Given the description of an element on the screen output the (x, y) to click on. 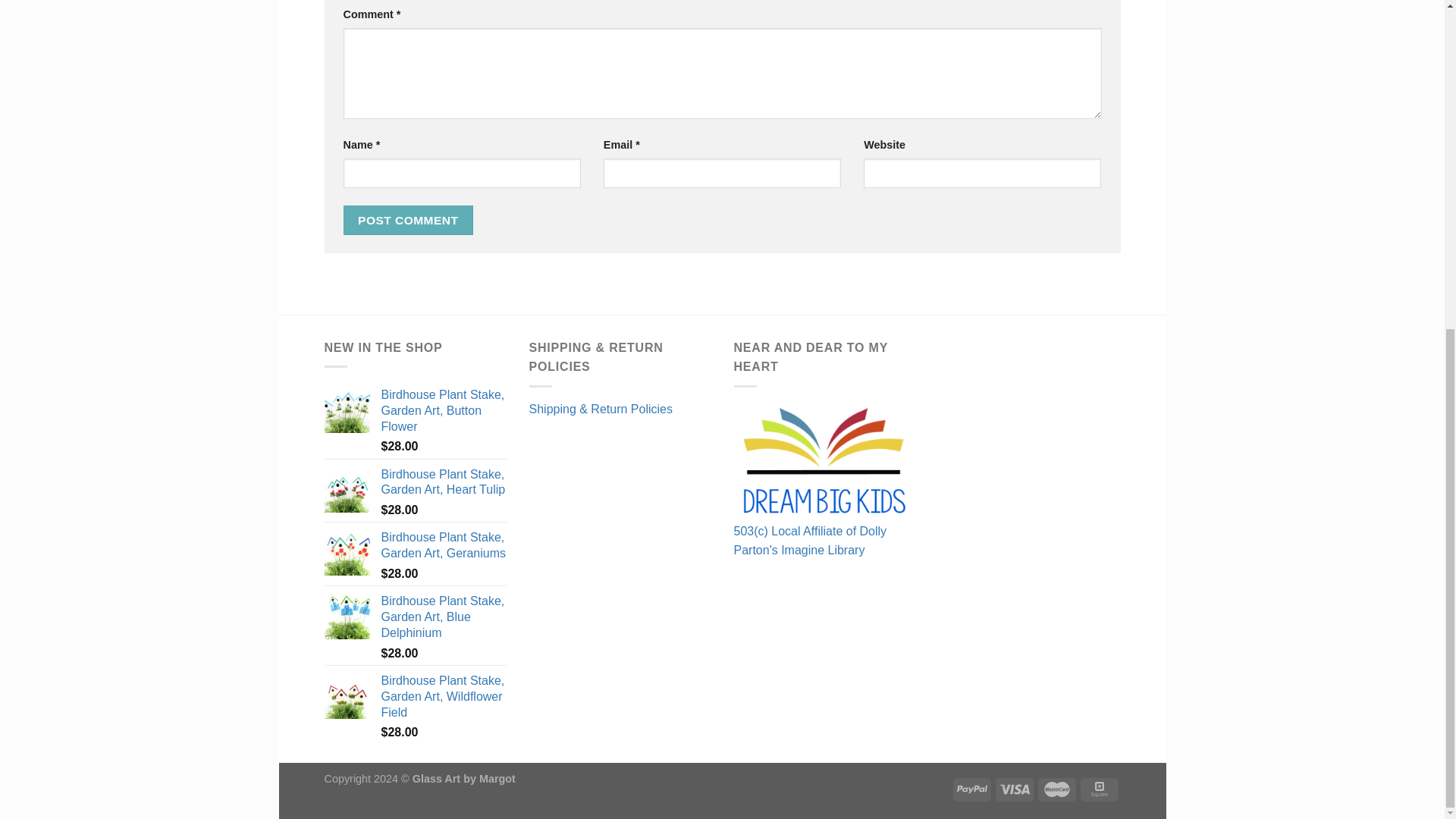
Post Comment (407, 220)
Birdhouse Plant Stake, Garden Art, Blue Delphinium (442, 616)
Birdhouse Plant Stake, Garden Art, Geraniums (442, 545)
Post Comment (407, 220)
Birdhouse Plant Stake, Garden Art, Heart Tulip (442, 482)
Birdhouse Plant Stake, Garden Art, Wildflower Field (442, 696)
Birdhouse Plant Stake, Garden Art, Button Flower (442, 410)
